Given the description of an element on the screen output the (x, y) to click on. 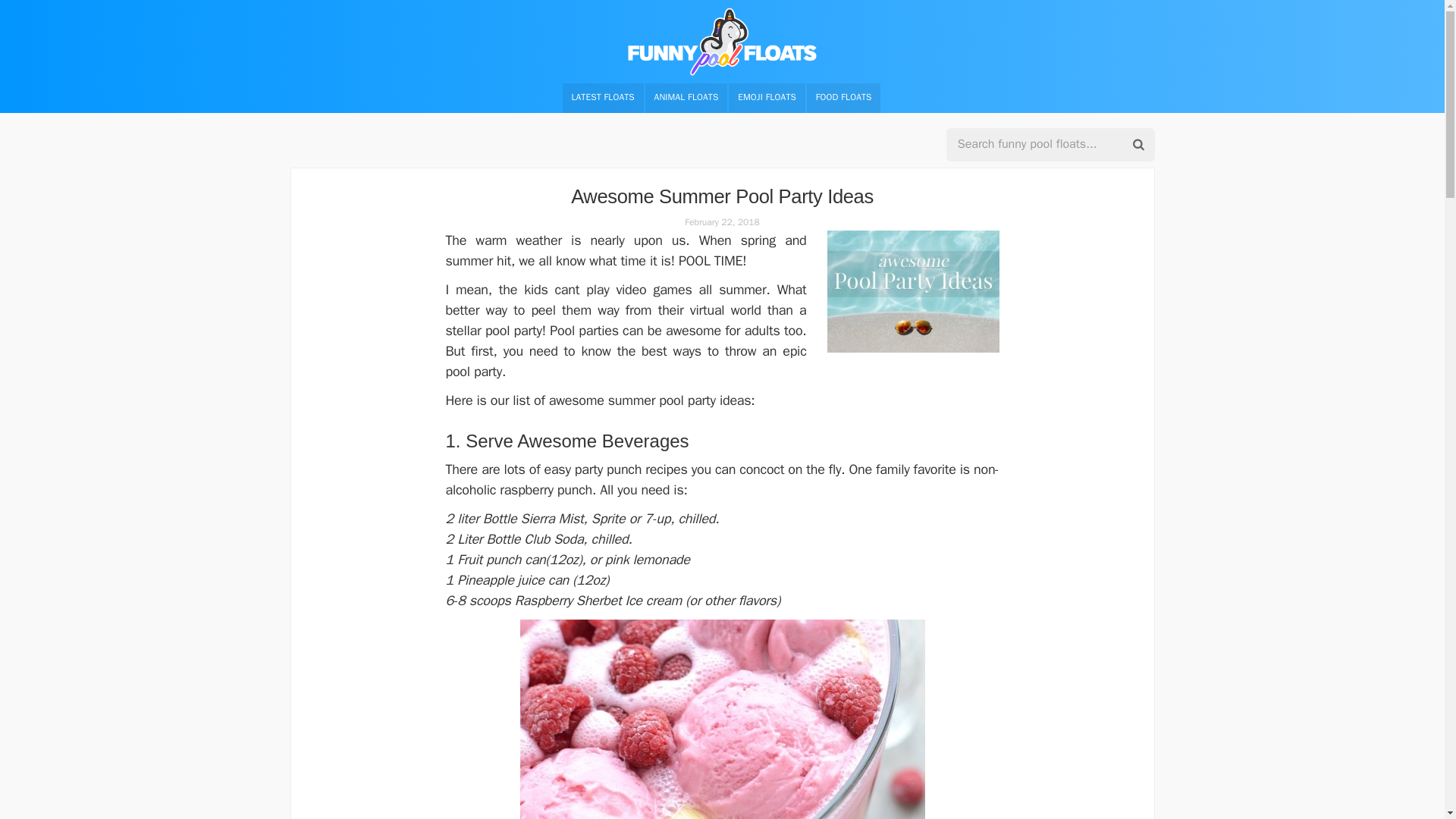
February 22, 2018 (721, 222)
Latest Floats (602, 98)
EMOJI FLOATS (767, 98)
Funny Pool Floats (721, 40)
FOOD FLOATS (843, 98)
Emoji Floats (767, 98)
Food Floats (843, 98)
ANIMAL FLOATS (686, 98)
Animal Floats (686, 98)
LATEST FLOATS (602, 98)
